Given the description of an element on the screen output the (x, y) to click on. 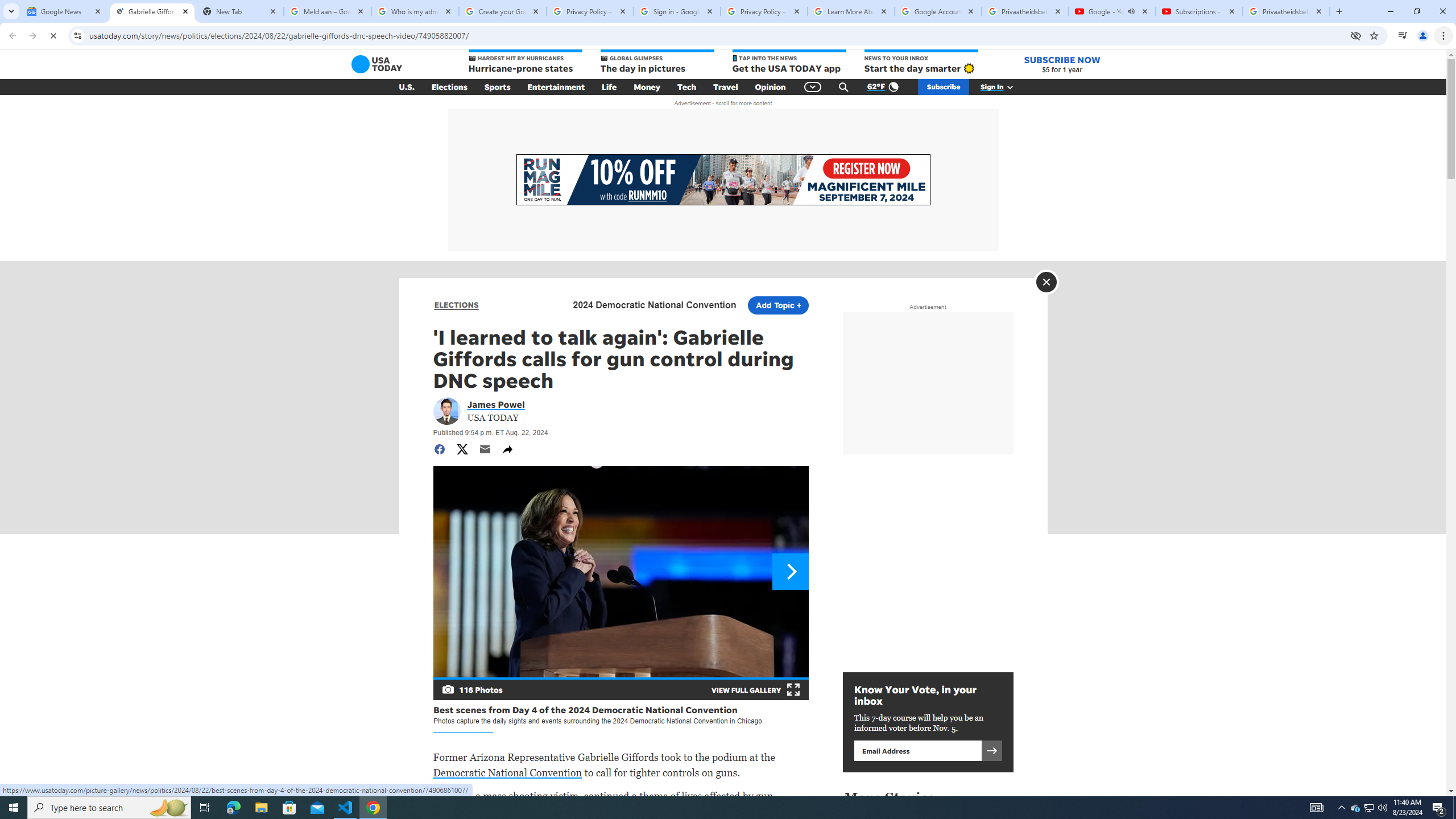
Portrait of James Powel James Powel (496, 404)
Email address (917, 750)
Sign in - Google Accounts (676, 11)
